Given the description of an element on the screen output the (x, y) to click on. 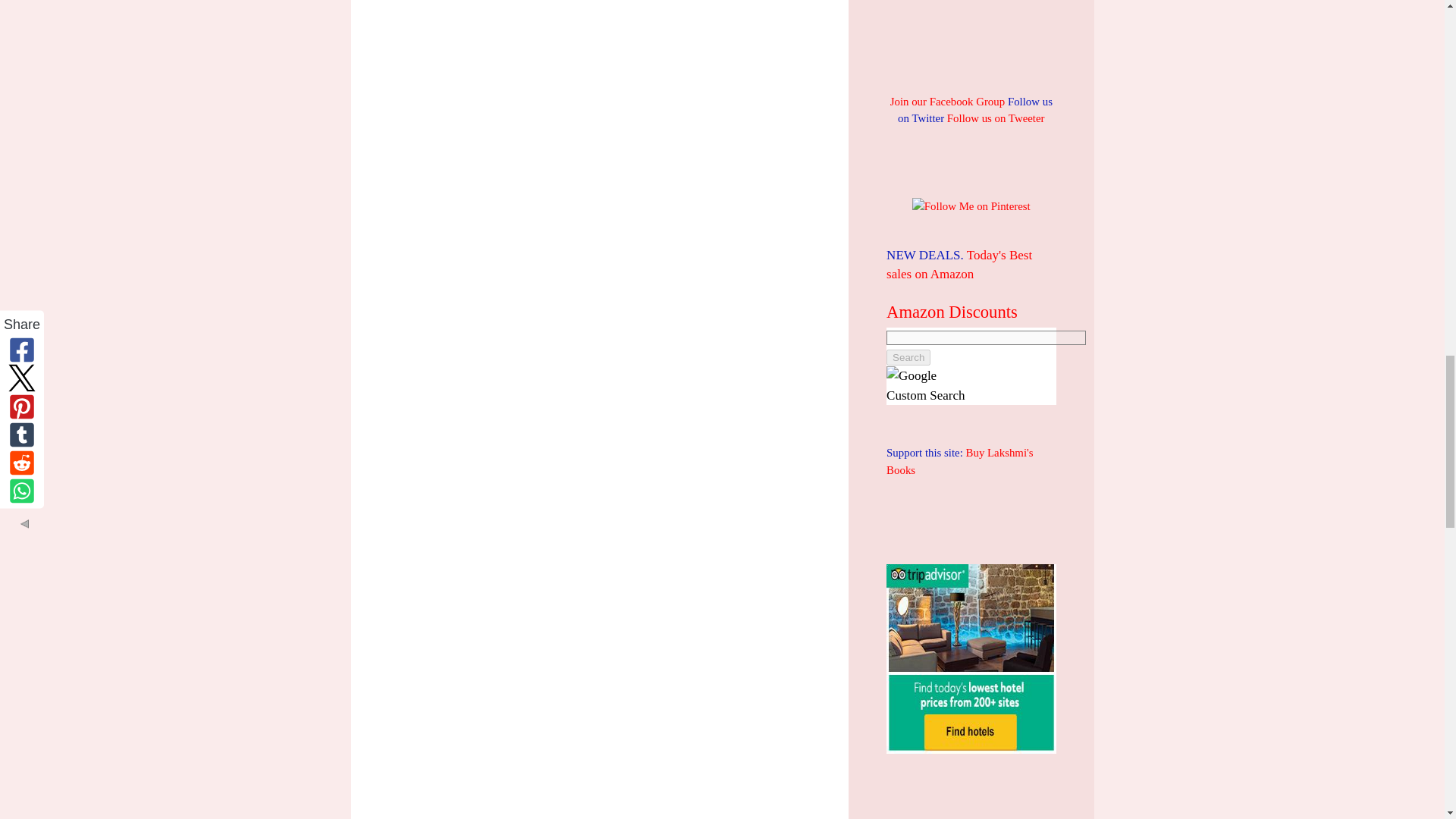
Search (908, 357)
